Given the description of an element on the screen output the (x, y) to click on. 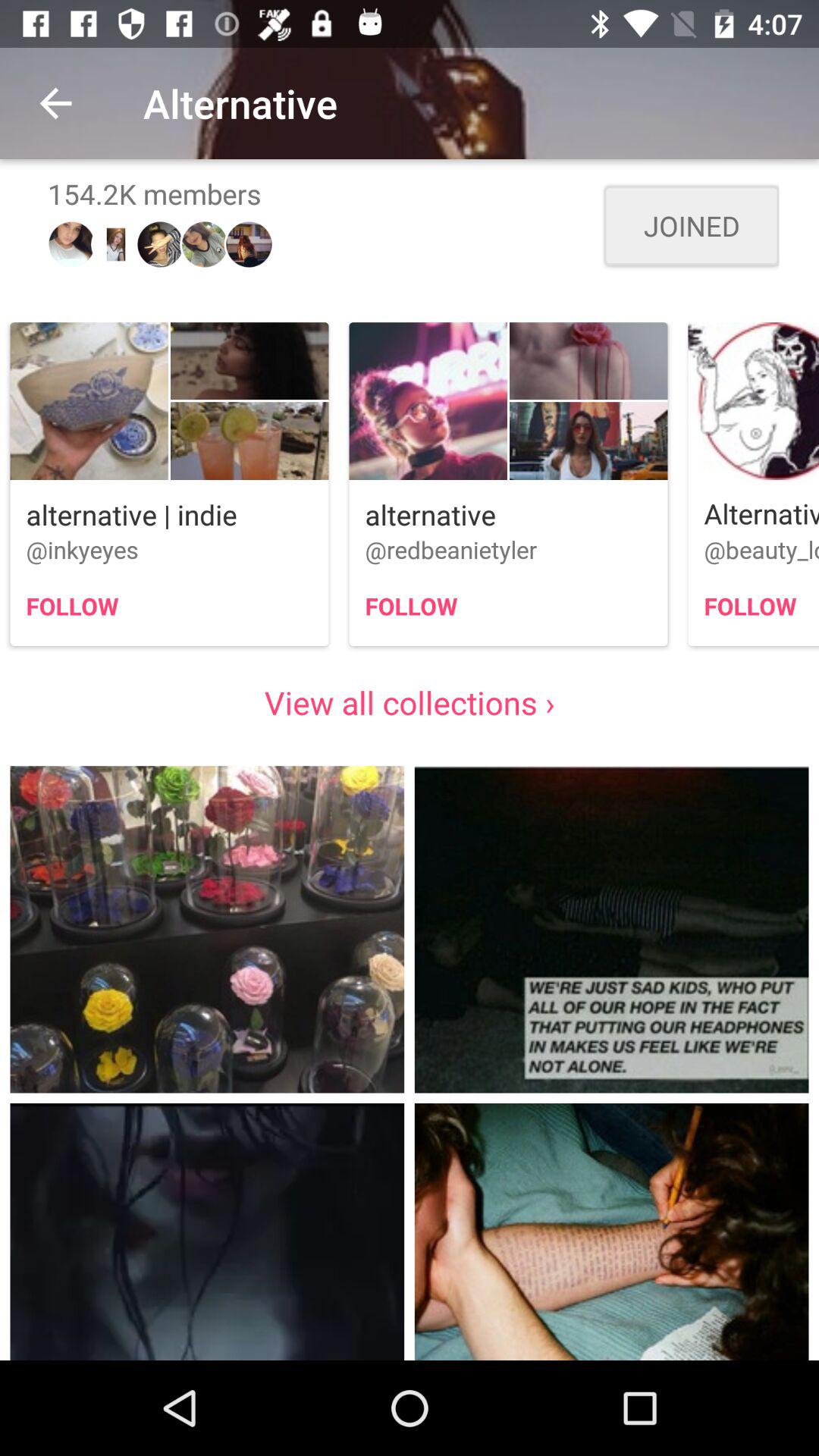
click the icon below the follow (409, 701)
